Given the description of an element on the screen output the (x, y) to click on. 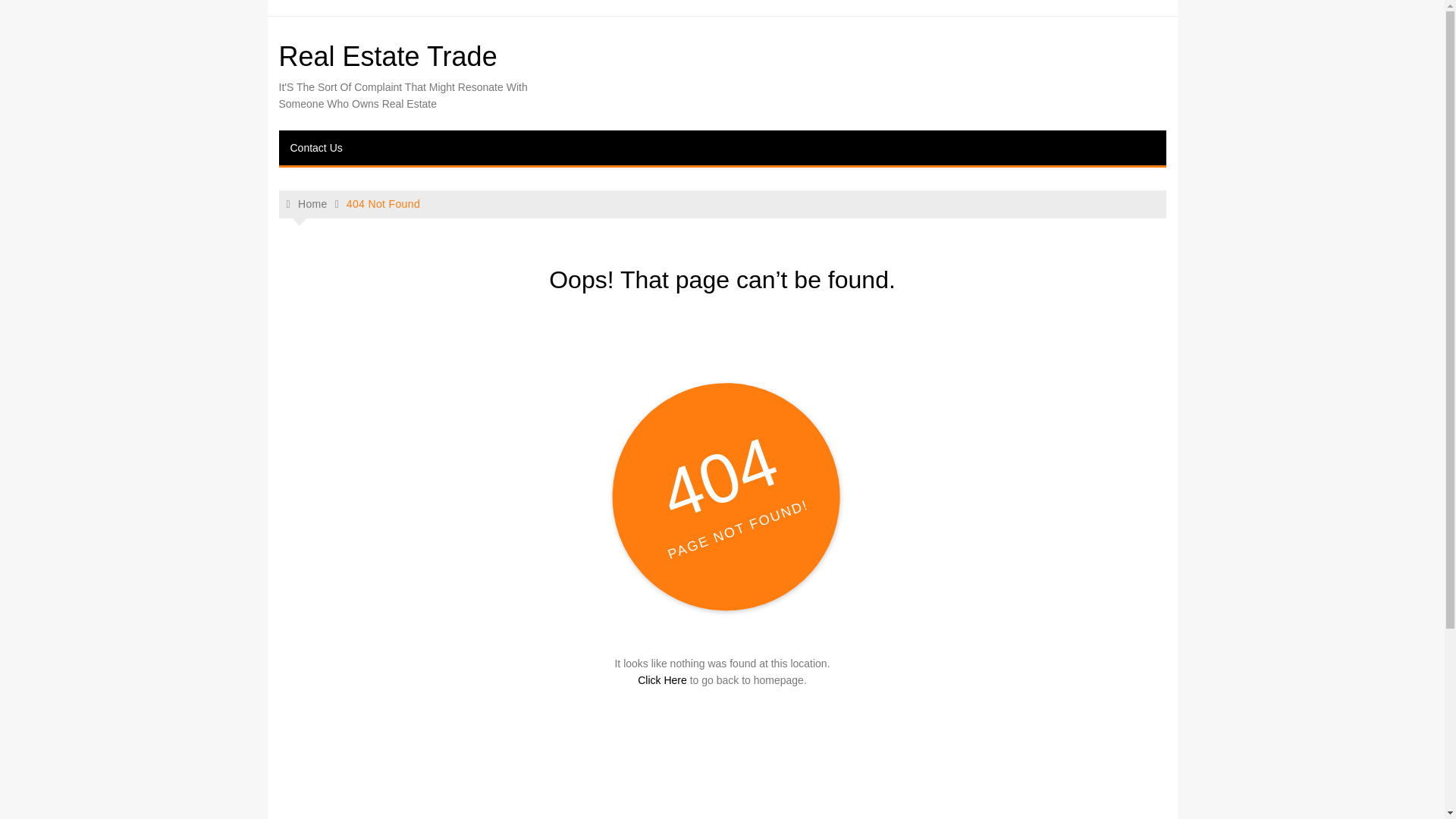
Home (306, 203)
Click Here (662, 680)
Contact Us (316, 147)
Real Estate Trade (388, 56)
